Given the description of an element on the screen output the (x, y) to click on. 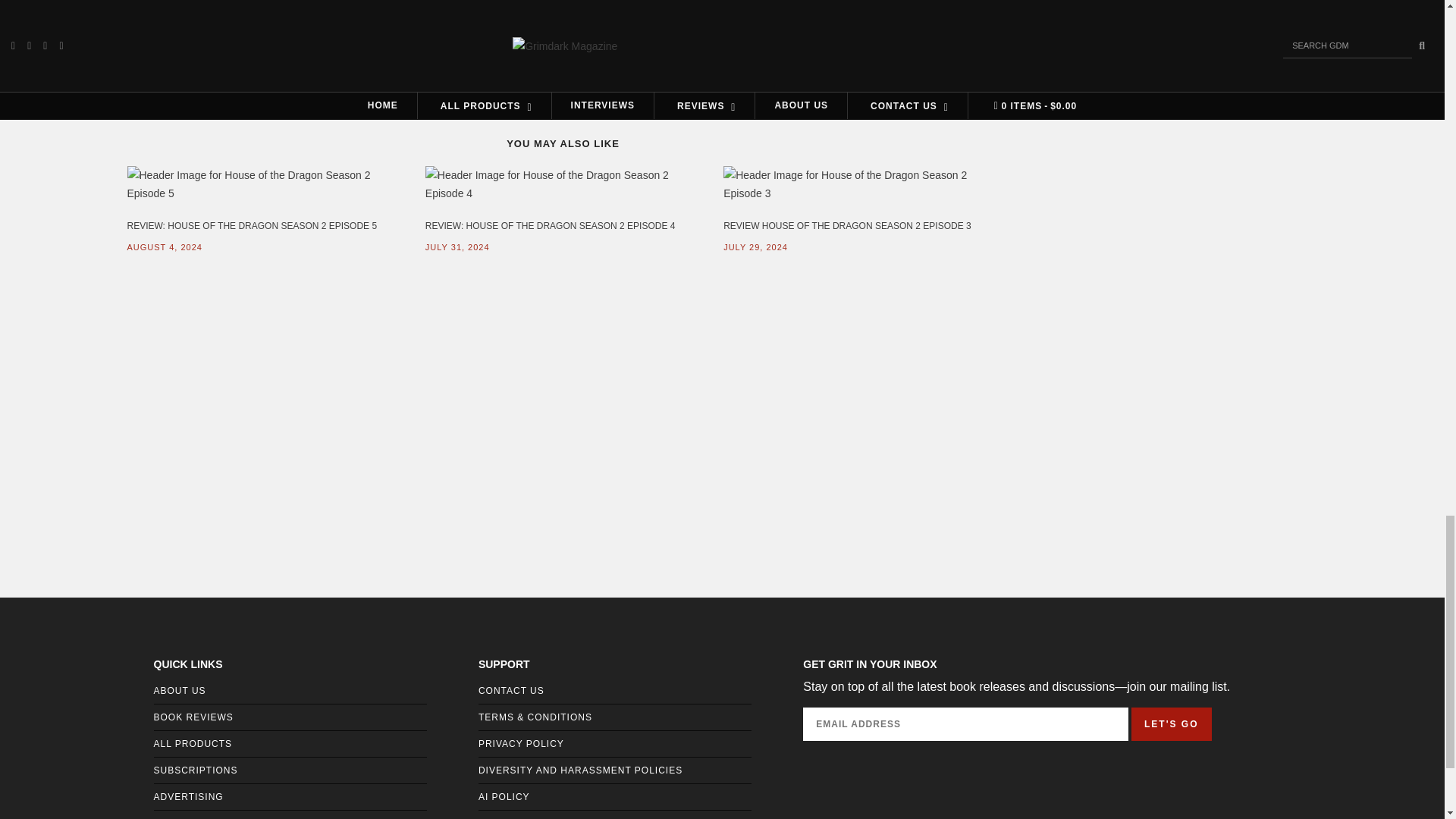
Let's Go (1171, 724)
Sign up (1232, 58)
